Given the description of an element on the screen output the (x, y) to click on. 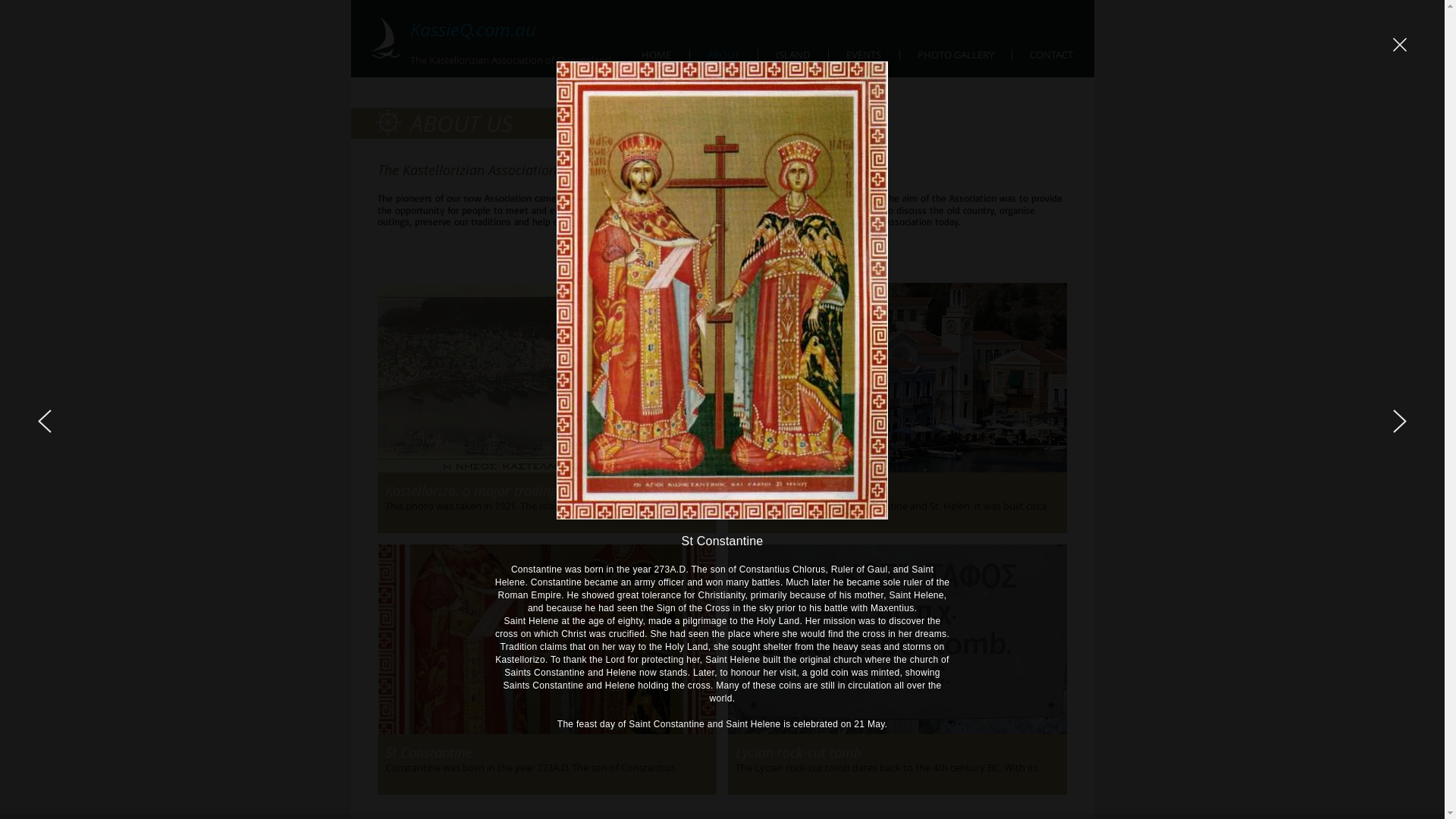
PHOTO GALLERY Element type: text (954, 53)
HOME Element type: text (655, 53)
ISLAND Element type: text (793, 53)
EVENTS Element type: text (863, 53)
CONTACT Element type: text (1050, 53)
ABOUT Element type: text (723, 53)
